Given the description of an element on the screen output the (x, y) to click on. 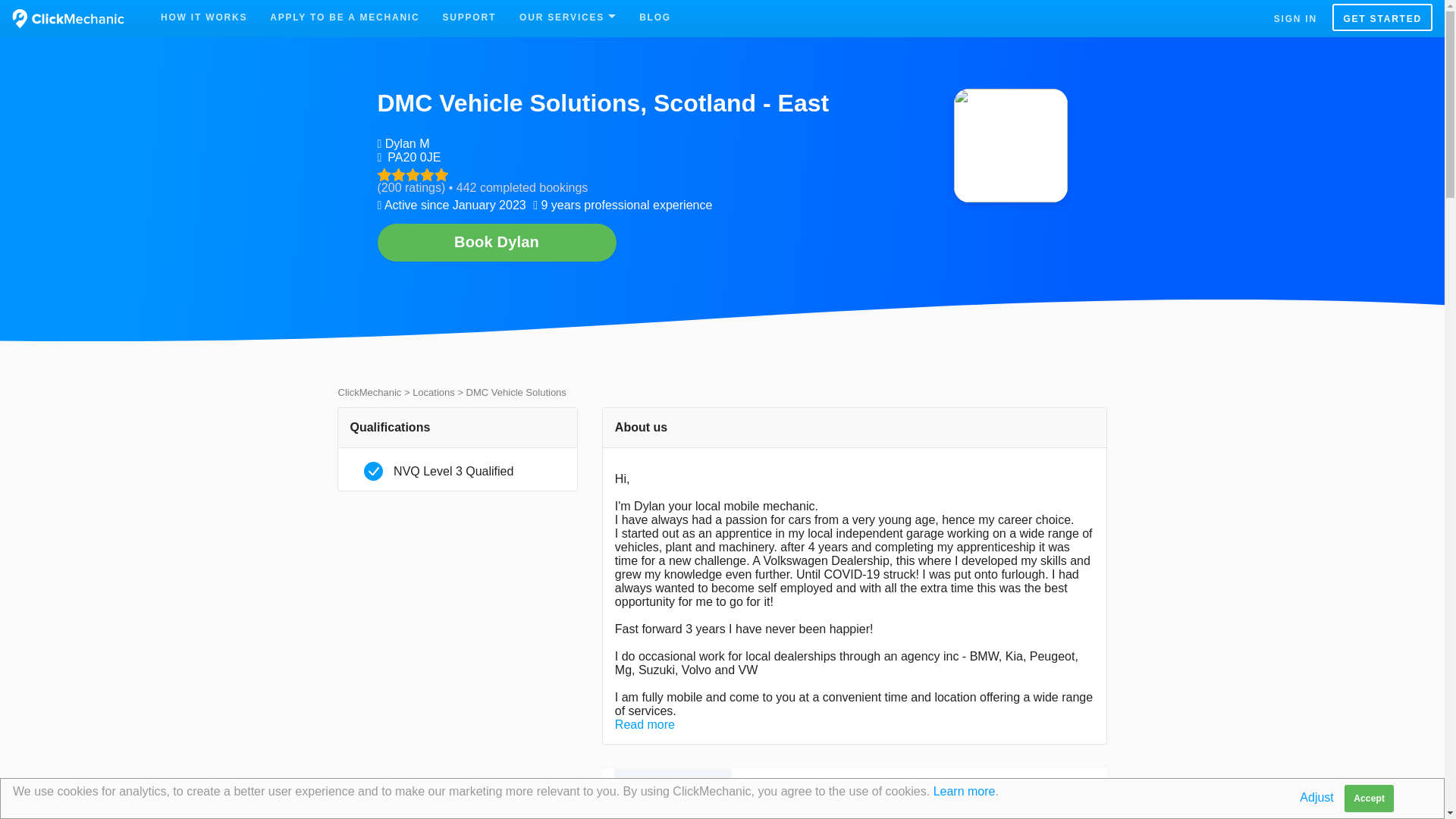
SUPPORT (468, 17)
APPLY TO BE A MECHANIC (344, 17)
HOW IT WORKS (204, 17)
